Given the description of an element on the screen output the (x, y) to click on. 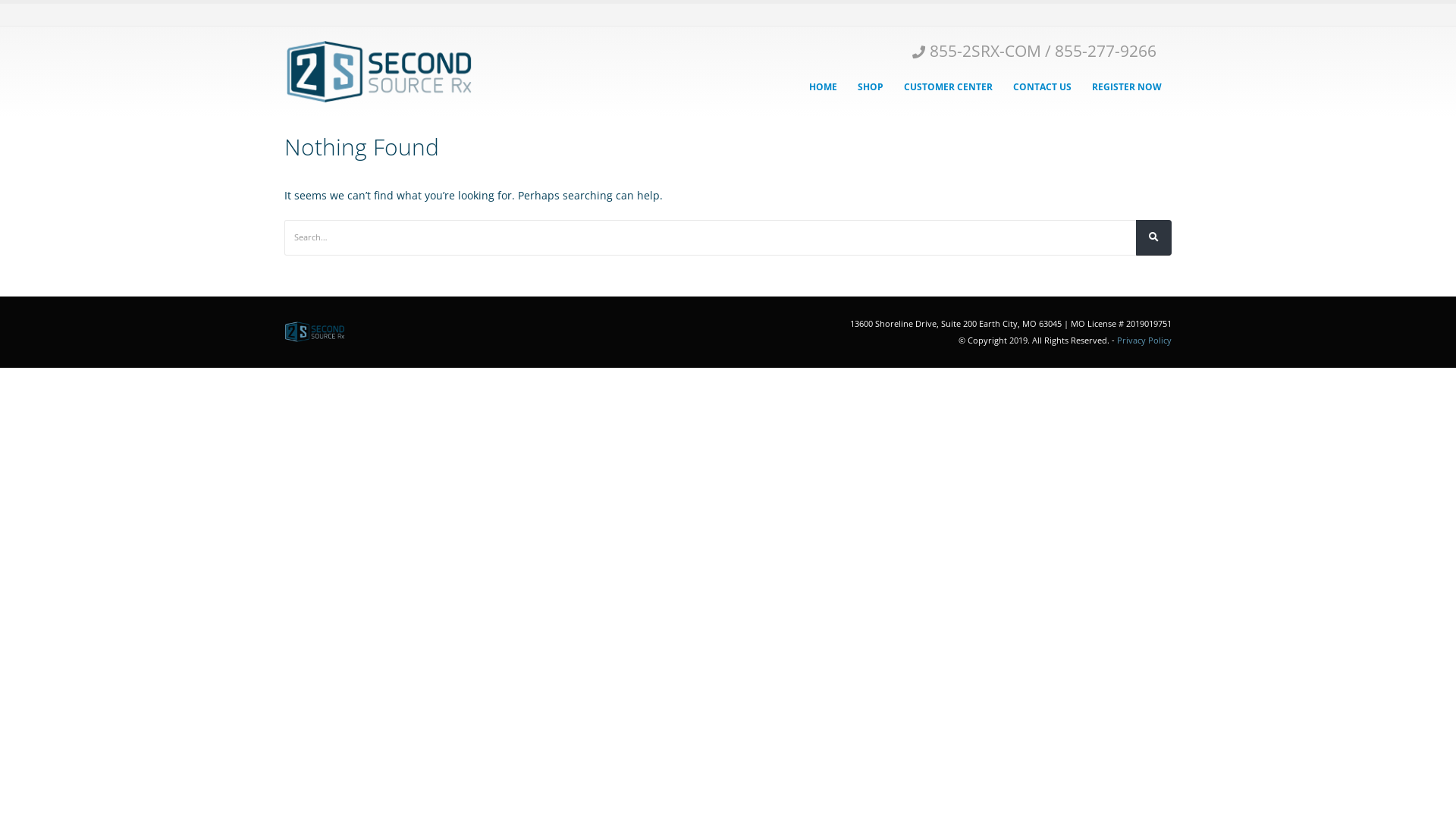
SHOP Element type: text (870, 86)
CONTACT US Element type: text (1042, 86)
REGISTER NOW Element type: text (1126, 86)
Privacy Policy Element type: text (1144, 339)
CUSTOMER CENTER Element type: text (948, 86)
855-277-9266 Element type: text (1105, 50)
HOME Element type: text (823, 86)
